Given the description of an element on the screen output the (x, y) to click on. 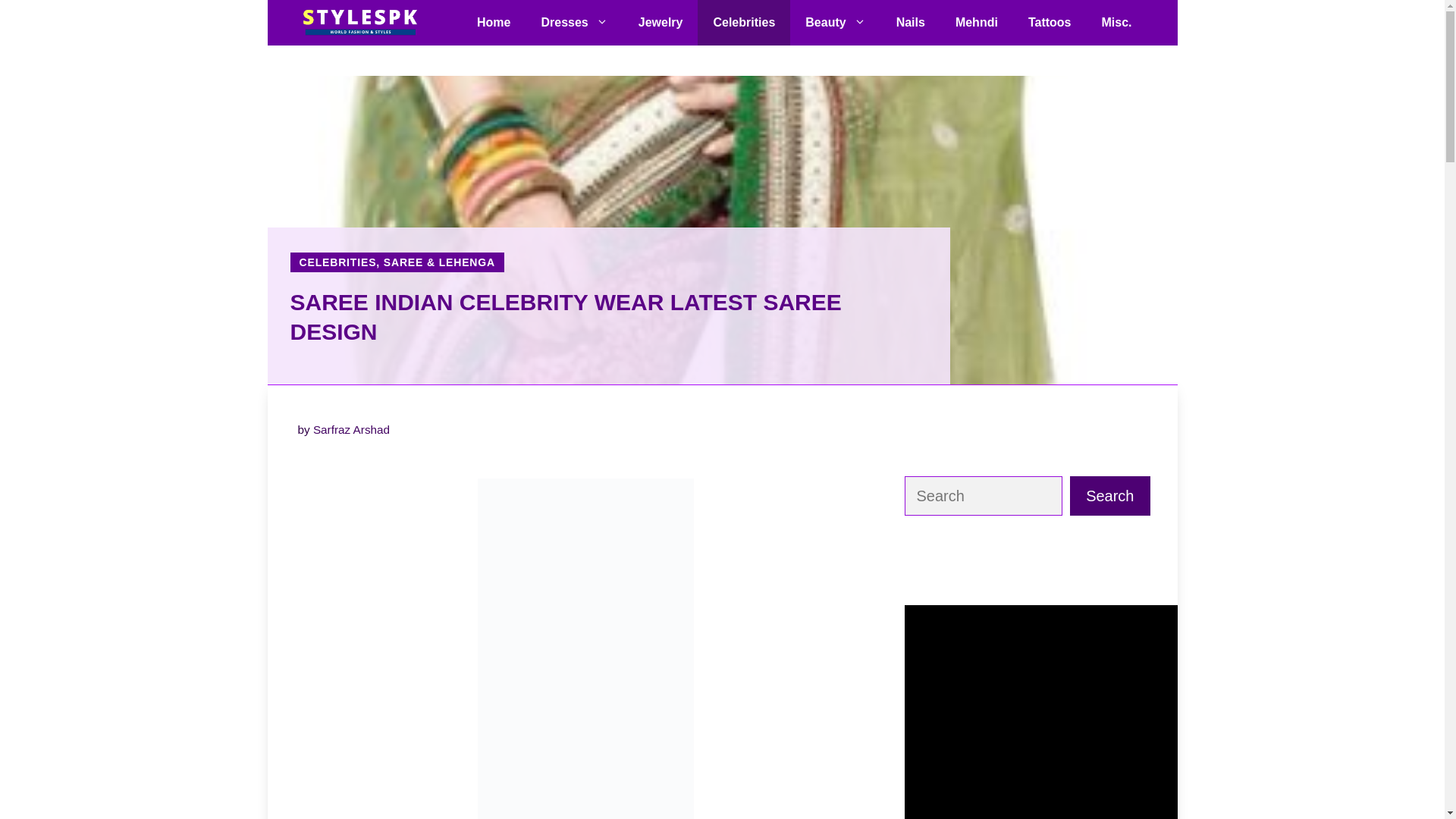
Sarfraz Arshad (351, 429)
View all posts by Sarfraz Arshad (351, 429)
Misc. (1116, 22)
Tattoos (1049, 22)
Beauty (835, 22)
CELEBRITIES (336, 262)
Home (493, 22)
Dresses (574, 22)
Mehndi (976, 22)
Celebrities (743, 22)
